Given the description of an element on the screen output the (x, y) to click on. 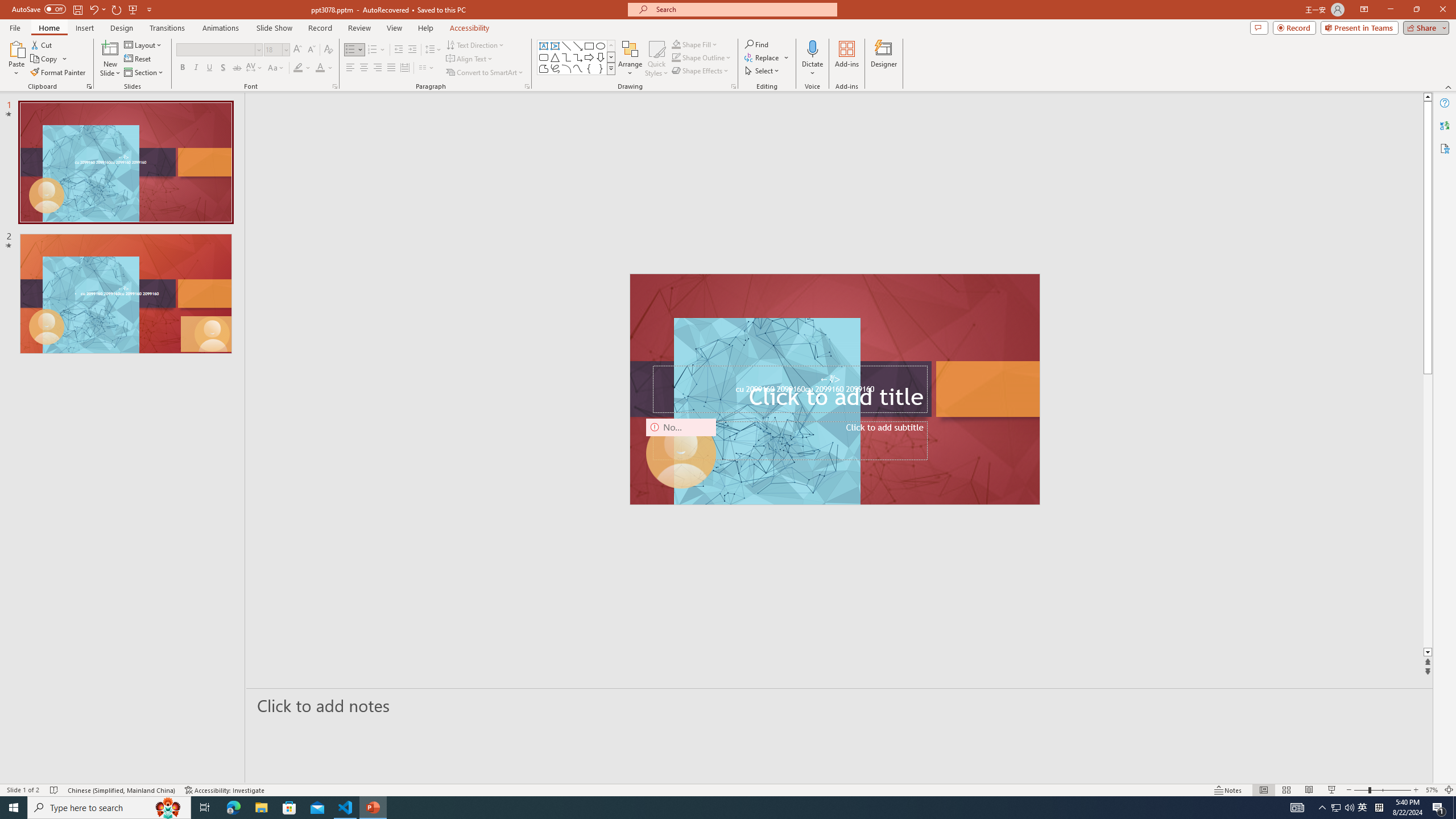
Cut (42, 44)
Font Color Red (320, 67)
Rectangle: Rounded Corners (543, 57)
Text Direction (476, 44)
Freeform: Shape (543, 68)
Format Object... (733, 85)
Italic (195, 67)
